Given the description of an element on the screen output the (x, y) to click on. 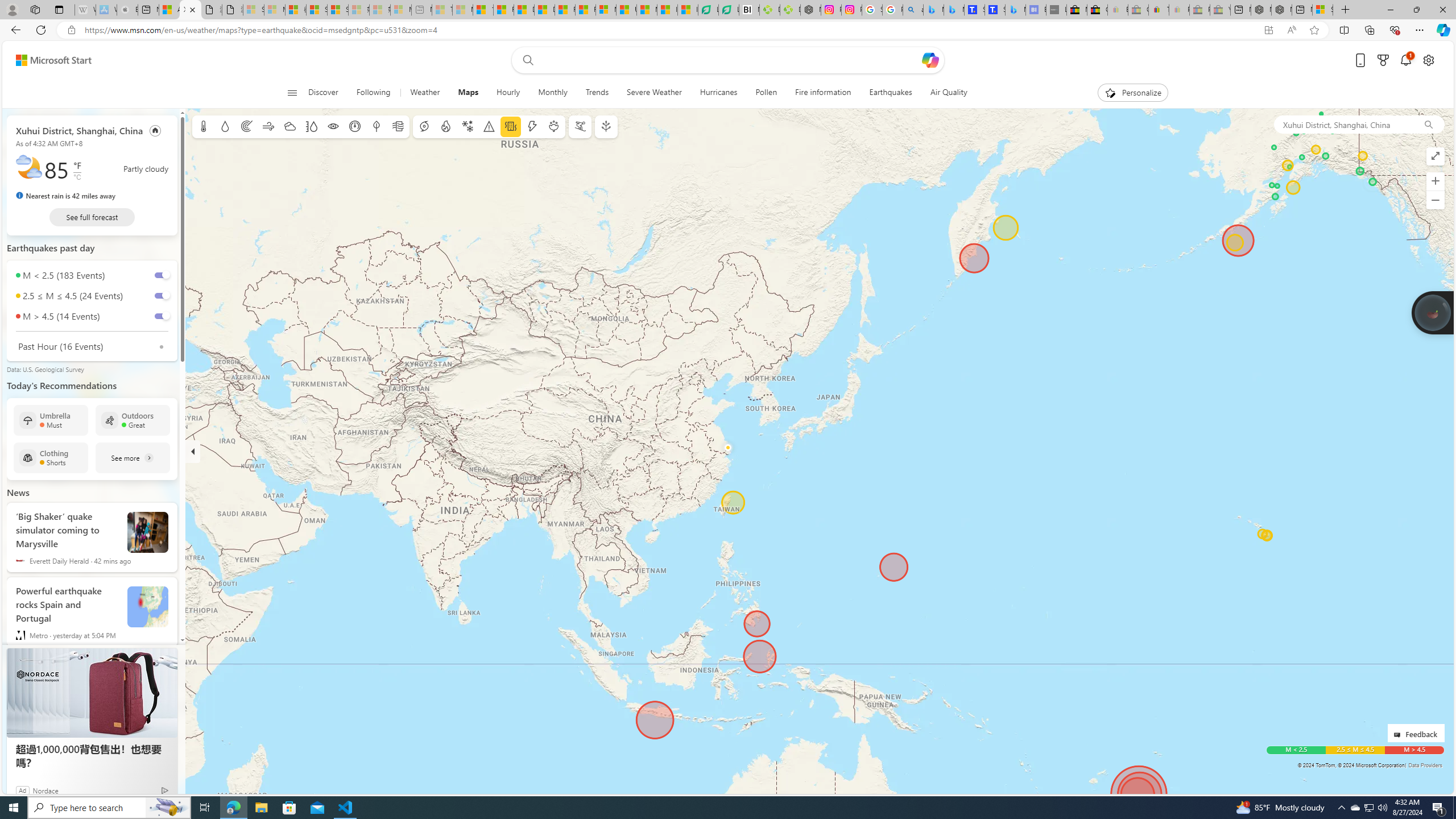
Pollen (553, 126)
Air Quality (943, 92)
Fire information (822, 92)
Hurricanes (718, 92)
Foo BAR | Trusted Community Engagement and Contributions (584, 9)
App available. Install Microsoft Start Weather (1268, 29)
Everett Daily Herald (20, 560)
LendingTree - Compare Lenders (728, 9)
Microsoft Services Agreement - Sleeping (274, 9)
